Given the description of an element on the screen output the (x, y) to click on. 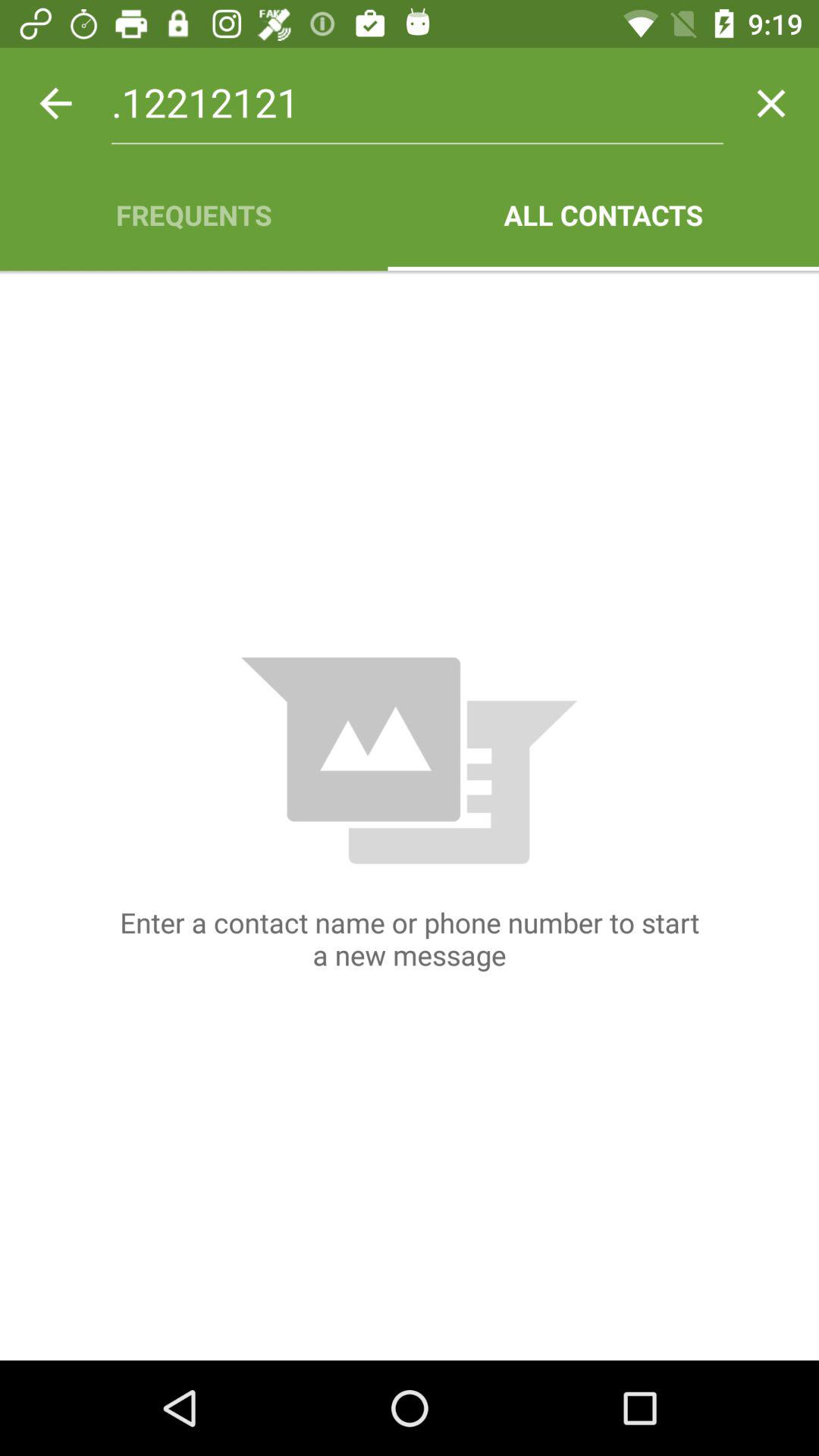
turn off the app above the frequents icon (417, 103)
